Given the description of an element on the screen output the (x, y) to click on. 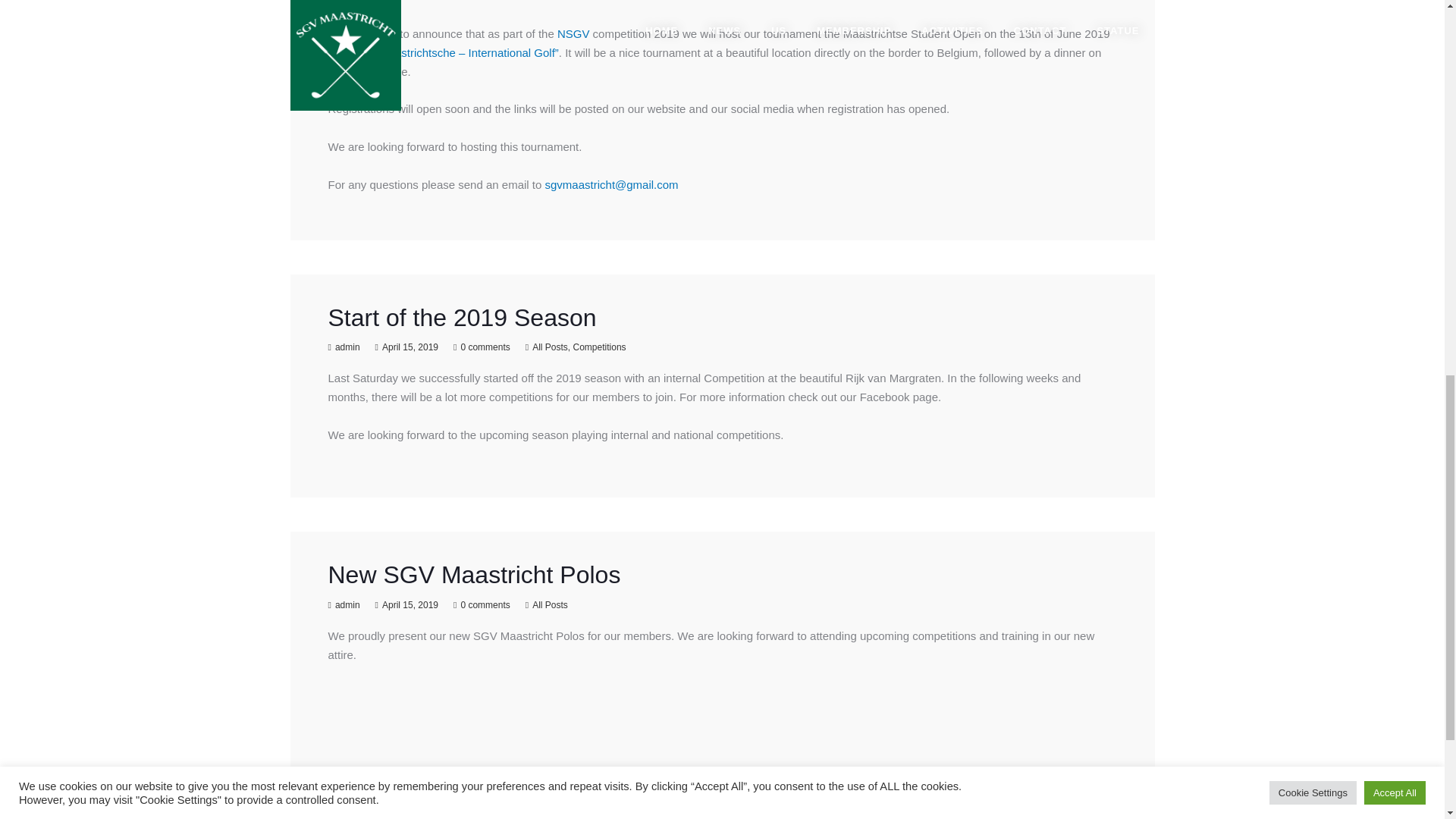
All Posts (549, 604)
admin (346, 347)
0 comments (484, 604)
Posts by admin (346, 604)
All Posts (549, 347)
April 15, 2019 (409, 347)
New SGV Maastricht Polos (473, 574)
Posts by admin (346, 347)
admin (346, 604)
0 comments (484, 347)
